Given the description of an element on the screen output the (x, y) to click on. 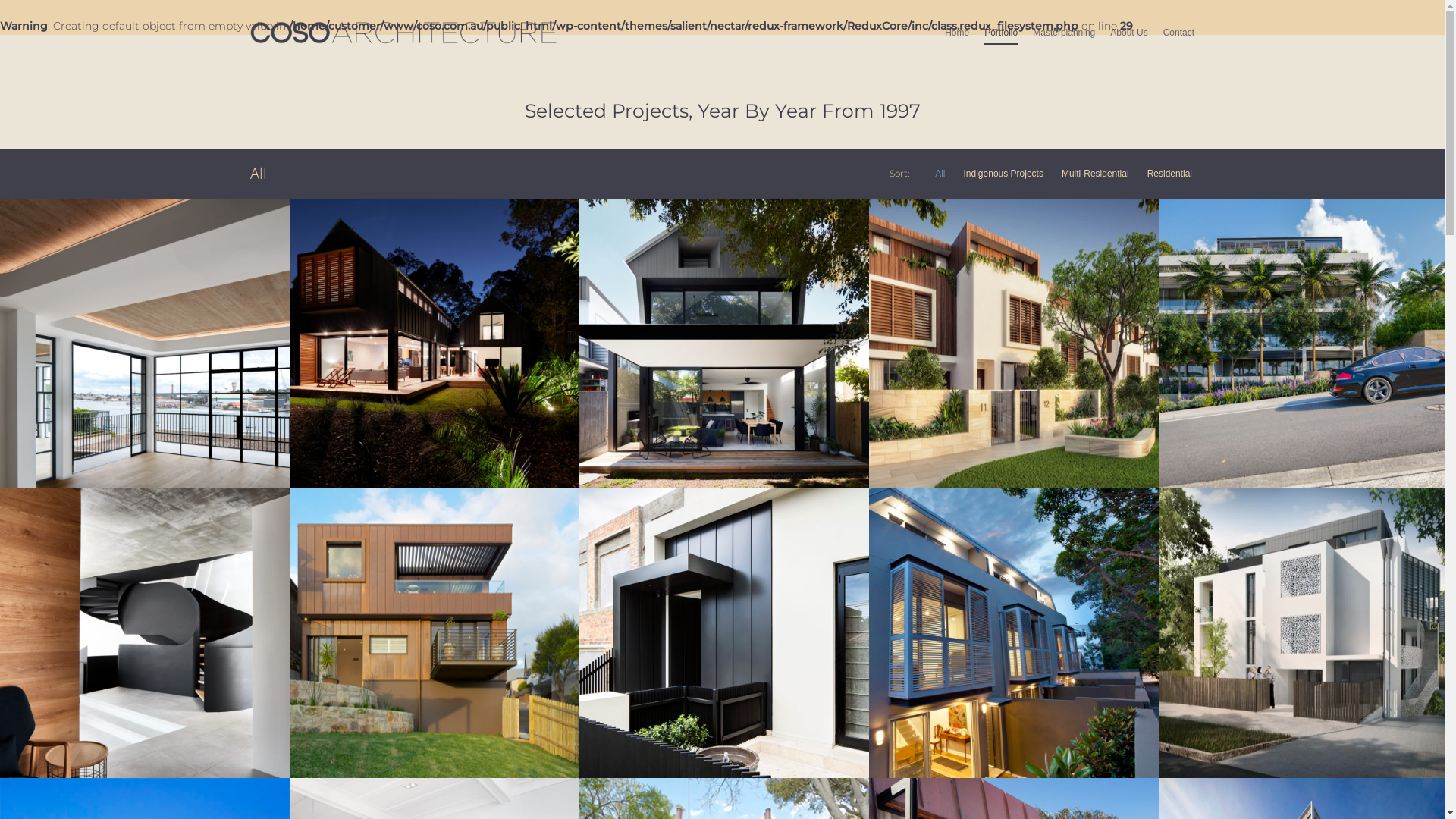
All Element type: text (939, 173)
Multi-Residential Element type: text (1095, 173)
Residential Element type: text (1169, 173)
Contact Element type: text (1178, 43)
Home Element type: text (956, 43)
Indigenous Projects Element type: text (1003, 173)
About Us Element type: text (1128, 43)
Masterplanning Element type: text (1063, 43)
Portfolio Element type: text (1000, 43)
